Given the description of an element on the screen output the (x, y) to click on. 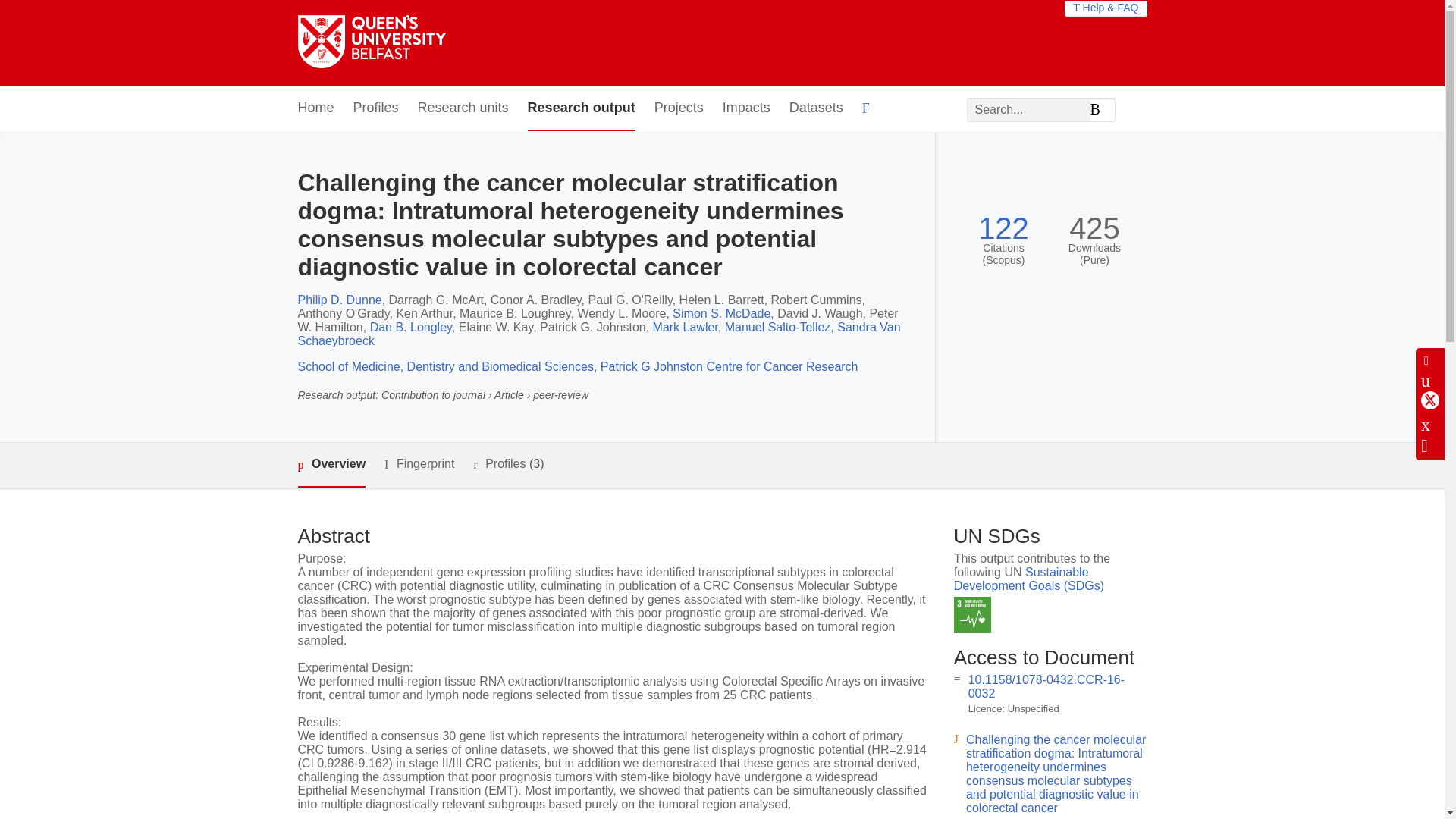
Manuel Salto-Tellez (778, 327)
Philip D. Dunne (339, 299)
Overview (331, 465)
Fingerprint (419, 464)
Impacts (746, 108)
Mark Lawler (684, 327)
Research units (462, 108)
Sandra Van Schaeybroeck (598, 334)
Research output (580, 108)
